Given the description of an element on the screen output the (x, y) to click on. 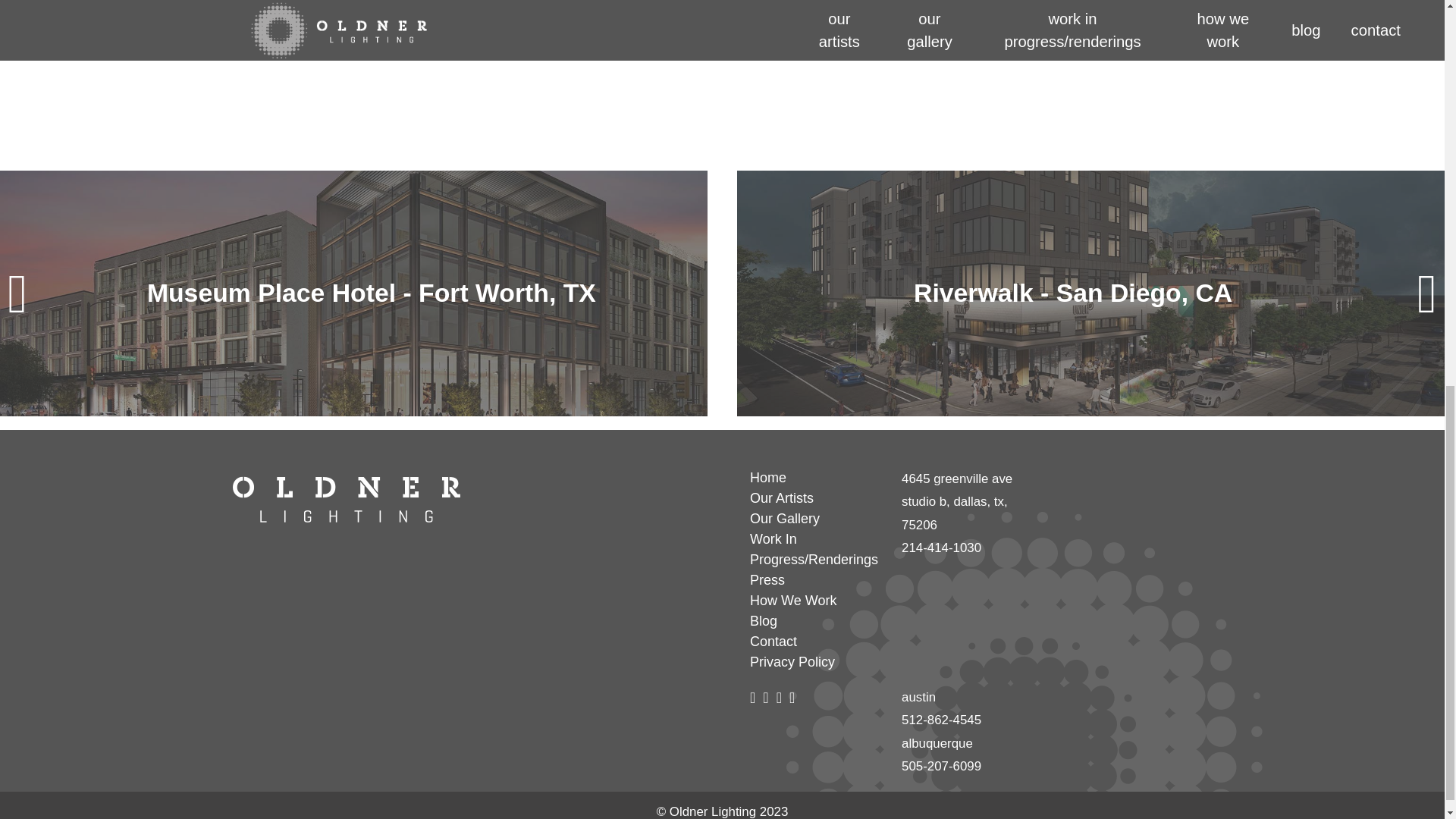
Home (815, 477)
Our Gallery (815, 518)
How We Work (815, 600)
Press (815, 580)
Contact (815, 641)
Our Artists (815, 498)
Privacy Policy (815, 661)
Blog (815, 620)
